Given the description of an element on the screen output the (x, y) to click on. 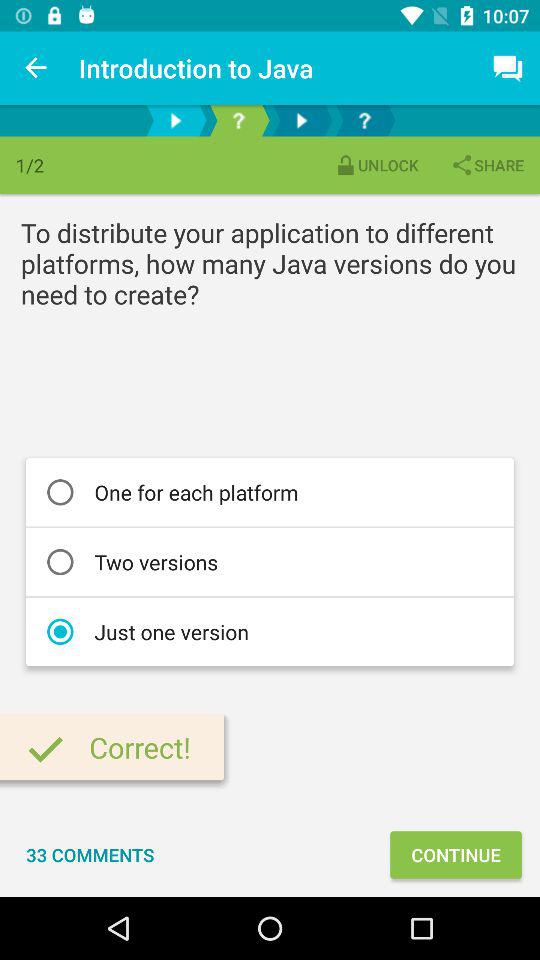
go to next (301, 120)
